Given the description of an element on the screen output the (x, y) to click on. 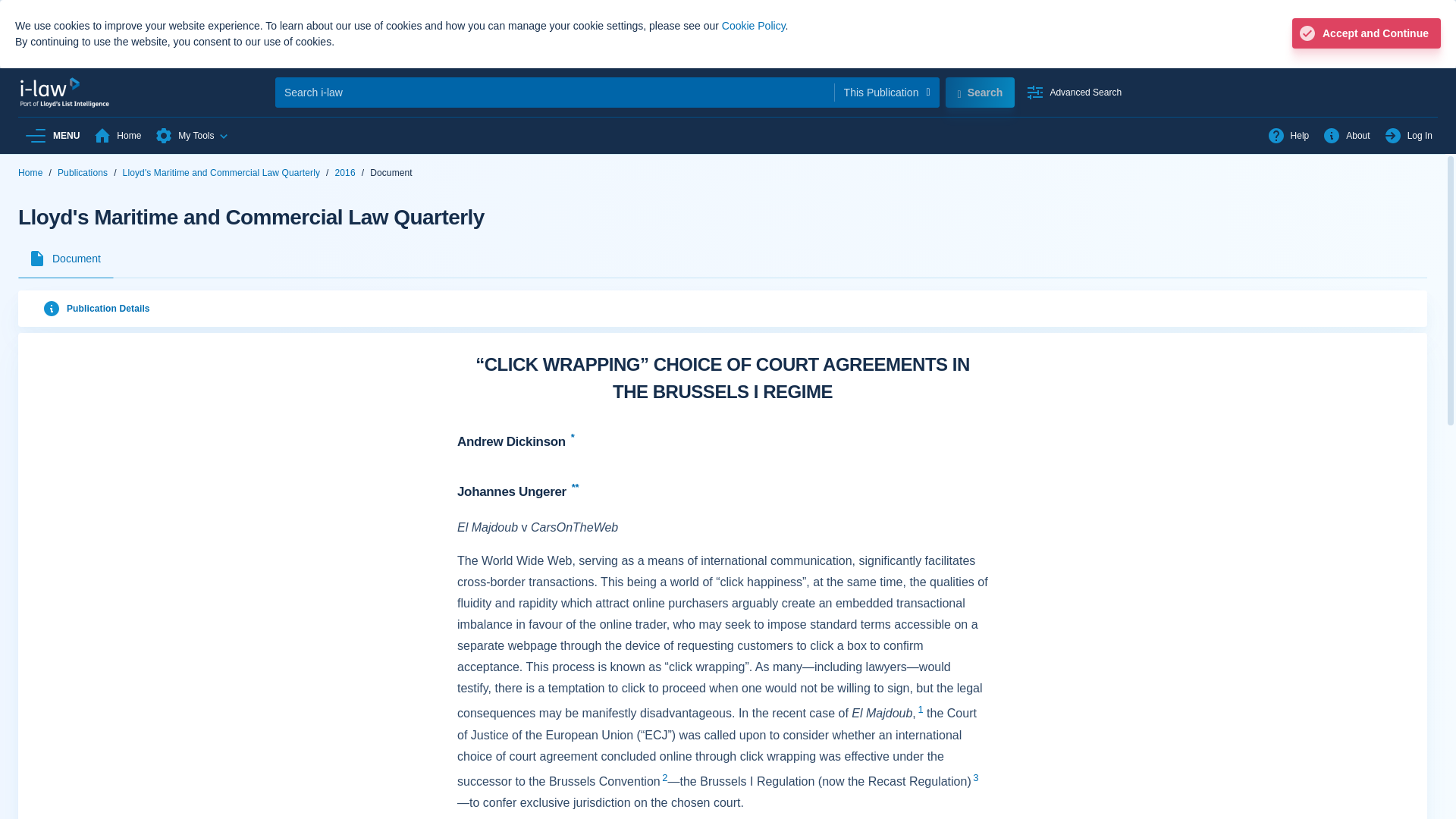
Home (117, 135)
Advanced Search (727, 135)
Help (1085, 92)
My Tools (1288, 135)
MENU (191, 135)
Log In (50, 135)
This Publication (1408, 135)
Search (886, 91)
This Publication (985, 92)
Advanced Search (886, 91)
About (1073, 91)
Cookie Policy (1345, 135)
MENU (754, 25)
Search (50, 135)
